Given the description of an element on the screen output the (x, y) to click on. 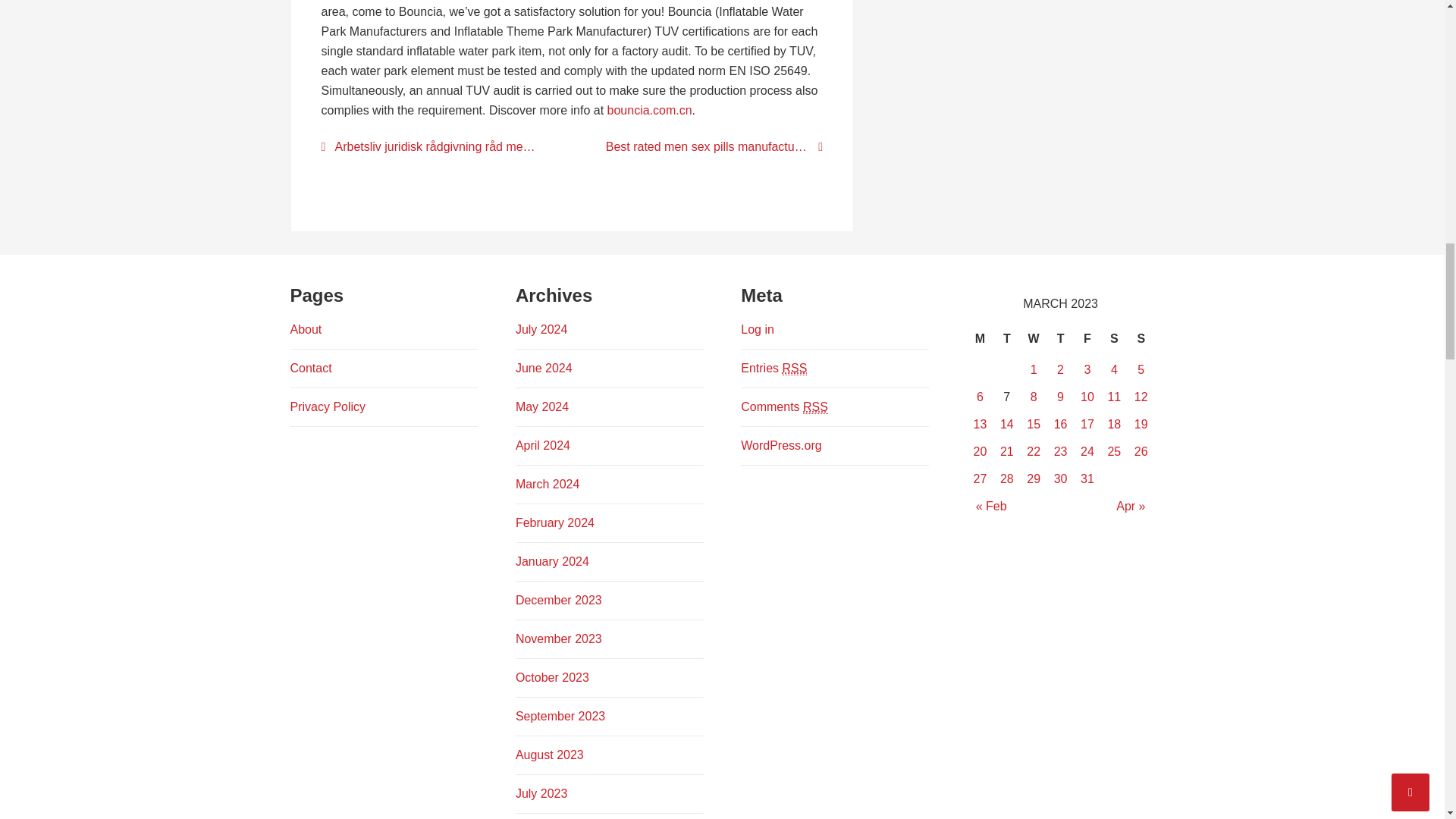
Really Simple Syndication (795, 368)
bouncia.com.cn (650, 110)
Best rated men sex pills manufacturer US (707, 146)
Really Simple Syndication (815, 407)
